Given the description of an element on the screen output the (x, y) to click on. 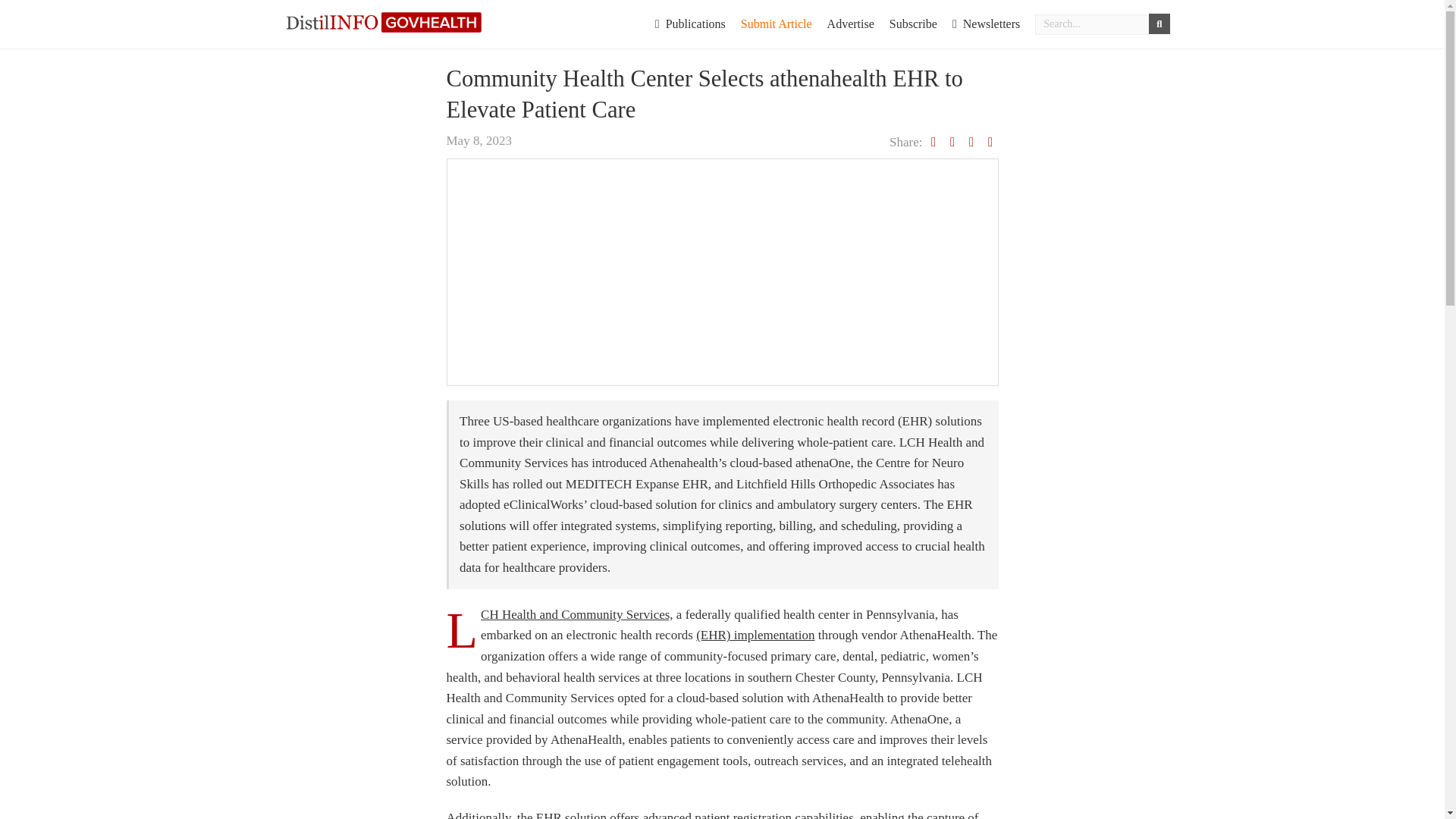
LCH Health and Community Services, (576, 614)
Advertise (850, 24)
Newsletters Archive (985, 24)
Subscribe (913, 24)
EHR (548, 814)
Publications (690, 24)
Newsletters (985, 24)
DistilINFO GovHealth Advisory (384, 21)
Submit Article (776, 24)
